Given the description of an element on the screen output the (x, y) to click on. 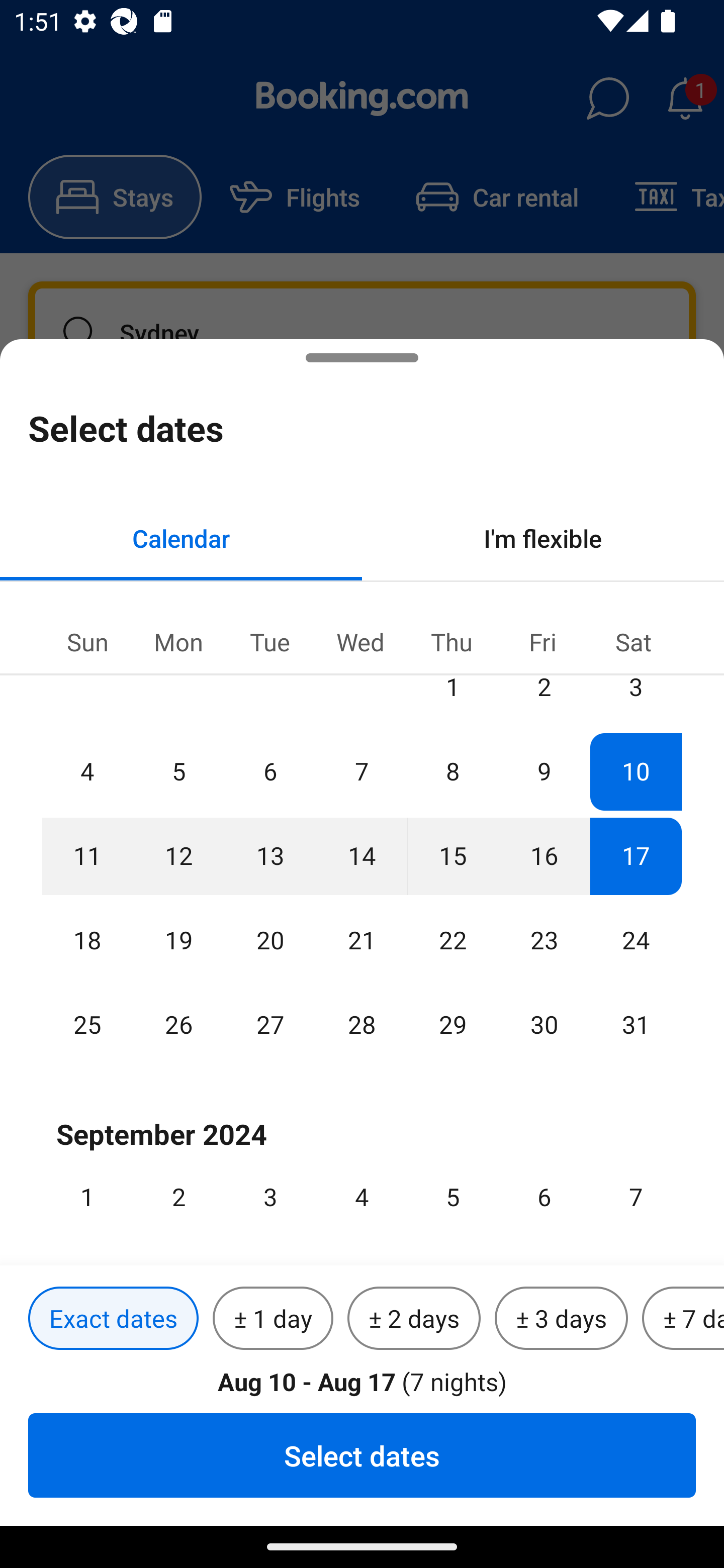
I'm flexible (543, 537)
Exact dates (113, 1318)
± 1 day (272, 1318)
± 2 days (413, 1318)
± 3 days (560, 1318)
± 7 days (683, 1318)
Select dates (361, 1454)
